Given the description of an element on the screen output the (x, y) to click on. 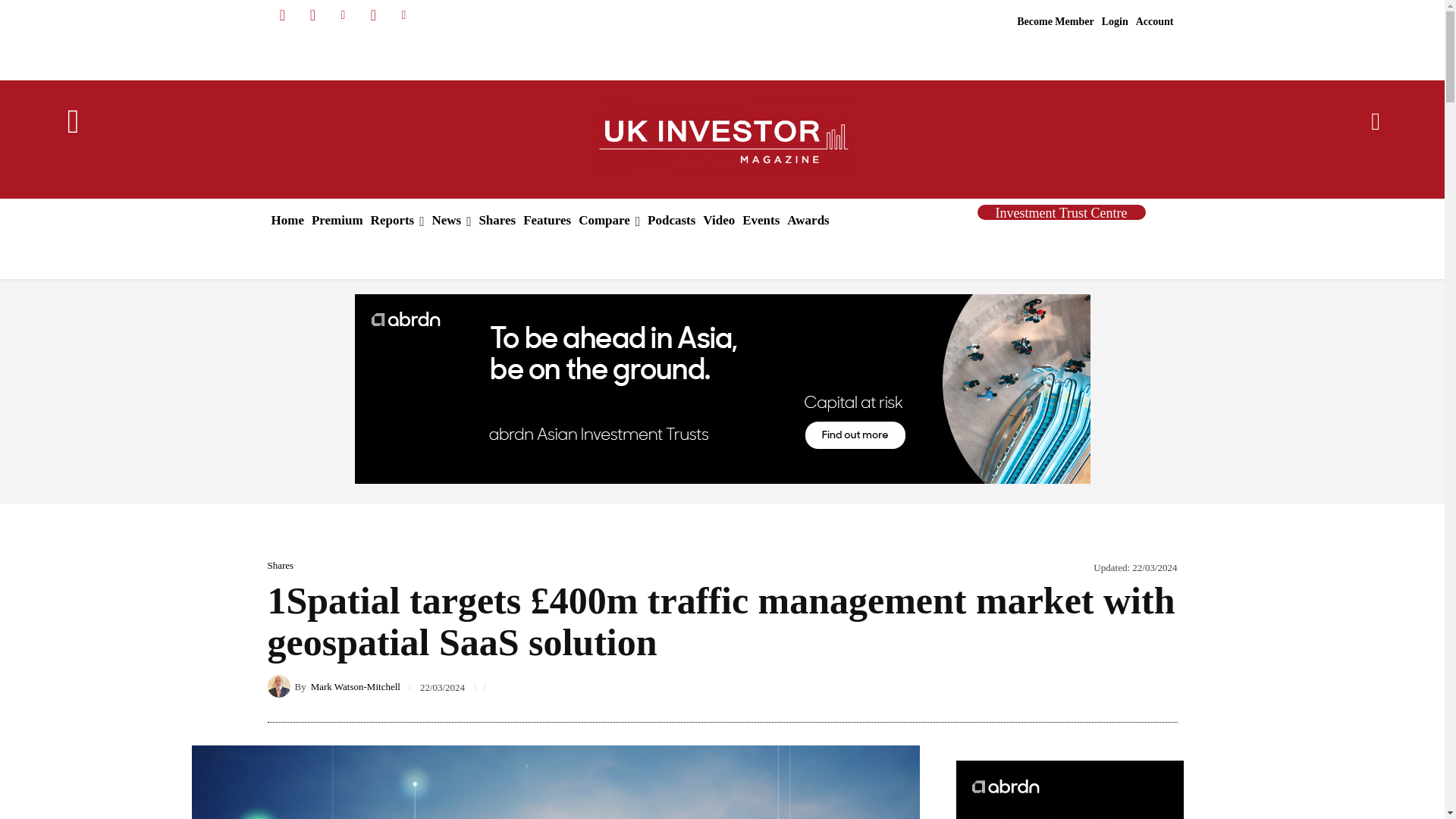
Instagram (312, 15)
Become Member (1055, 22)
Vimeo (403, 15)
Facebook (281, 15)
Reports (397, 220)
Twitter (373, 15)
Account (1154, 22)
Linkedin (342, 15)
Home (286, 220)
Premium (336, 220)
